Given the description of an element on the screen output the (x, y) to click on. 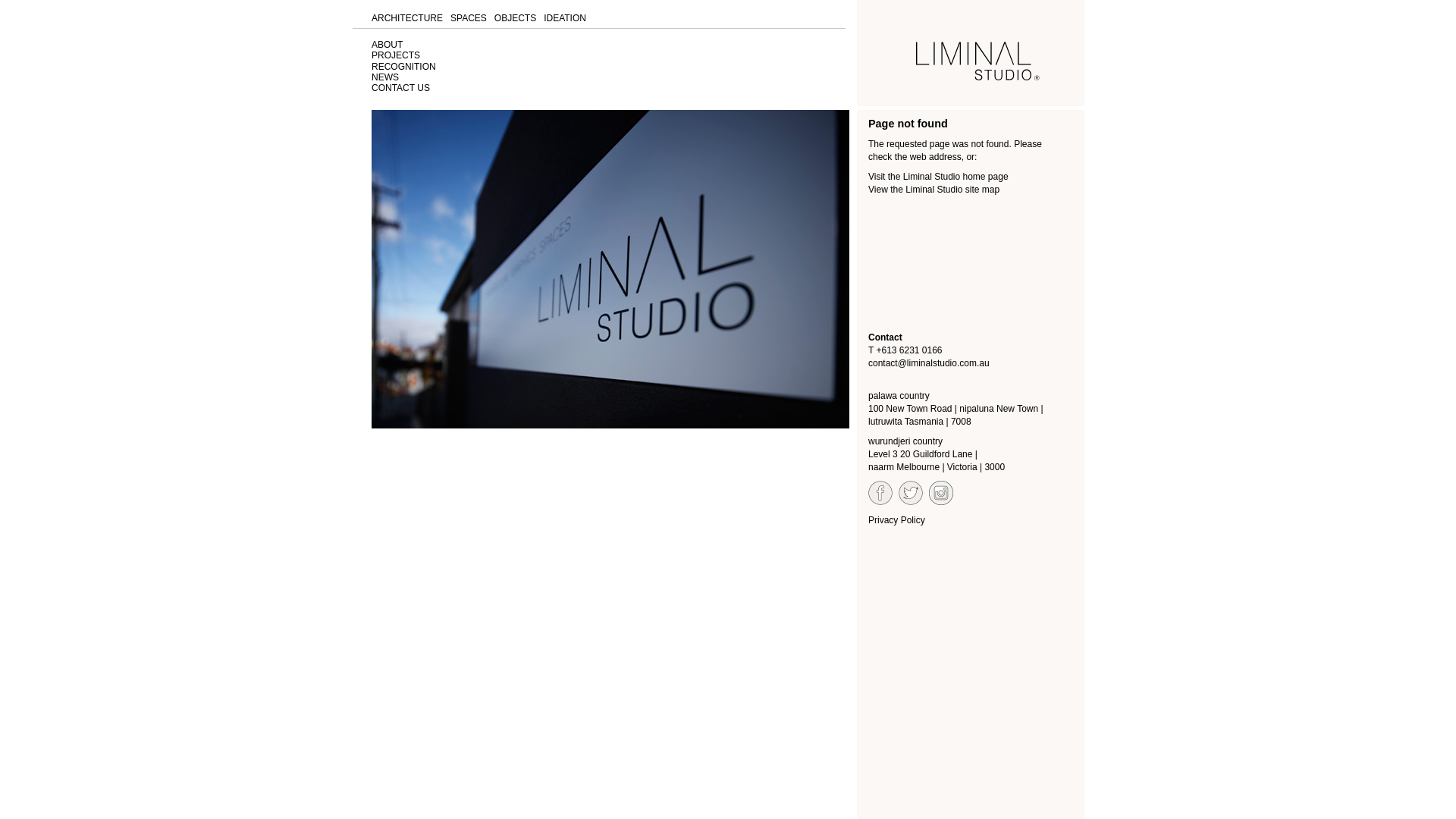
RECOGNITION Element type: text (403, 66)
NEWS Element type: text (384, 77)
contact@liminalstudio.com.au Element type: text (928, 362)
Visit the Liminal Studio home page Element type: text (938, 176)
PROJECTS Element type: text (395, 55)
View the Liminal Studio site map Element type: text (933, 189)
Contact Element type: text (885, 337)
Privacy Policy Element type: text (896, 519)
CONTACT US Element type: text (400, 87)
ABOUT Element type: text (386, 44)
